Given the description of an element on the screen output the (x, y) to click on. 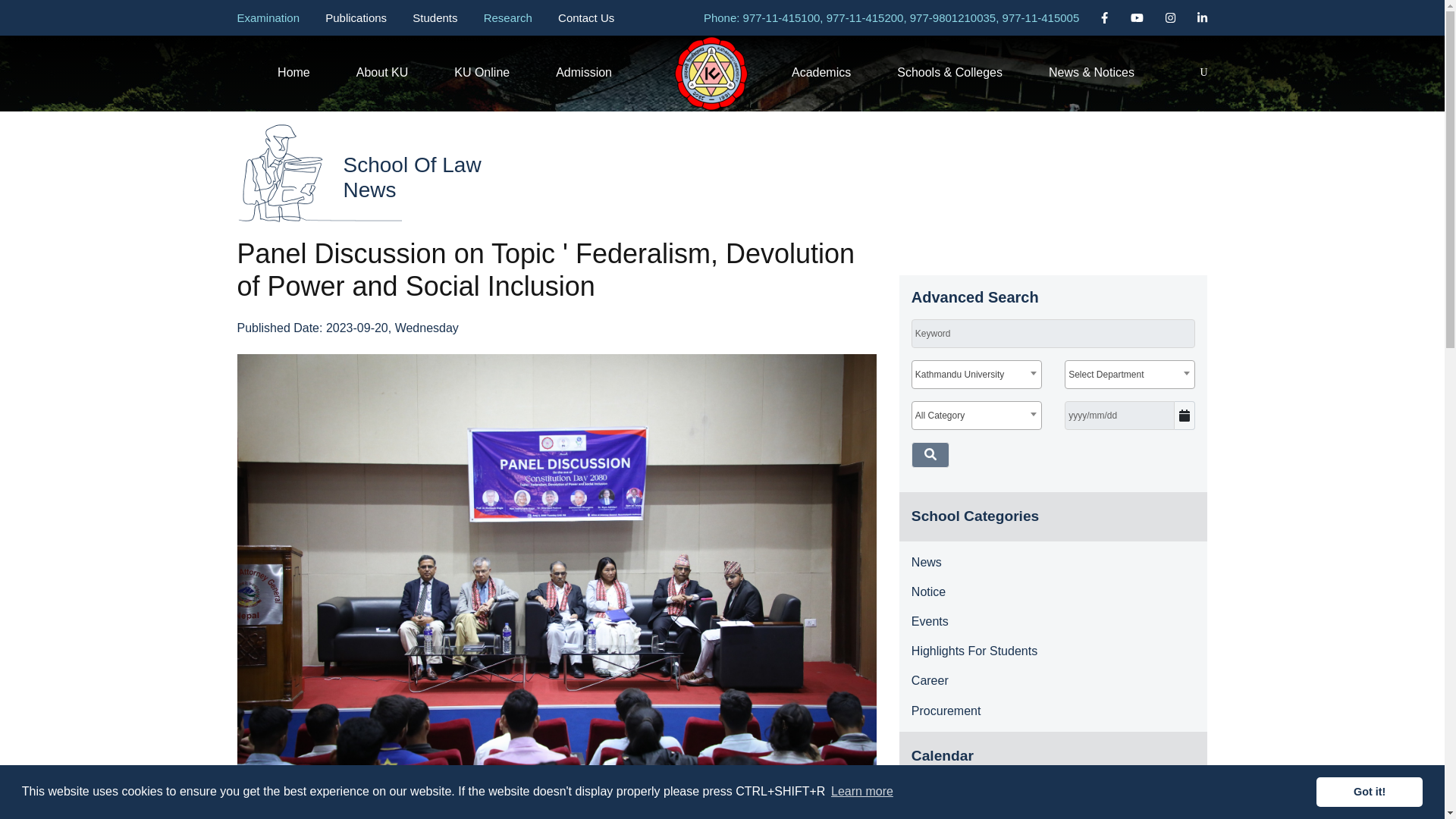
Got it! (1369, 791)
Learn more (861, 791)
